Given the description of an element on the screen output the (x, y) to click on. 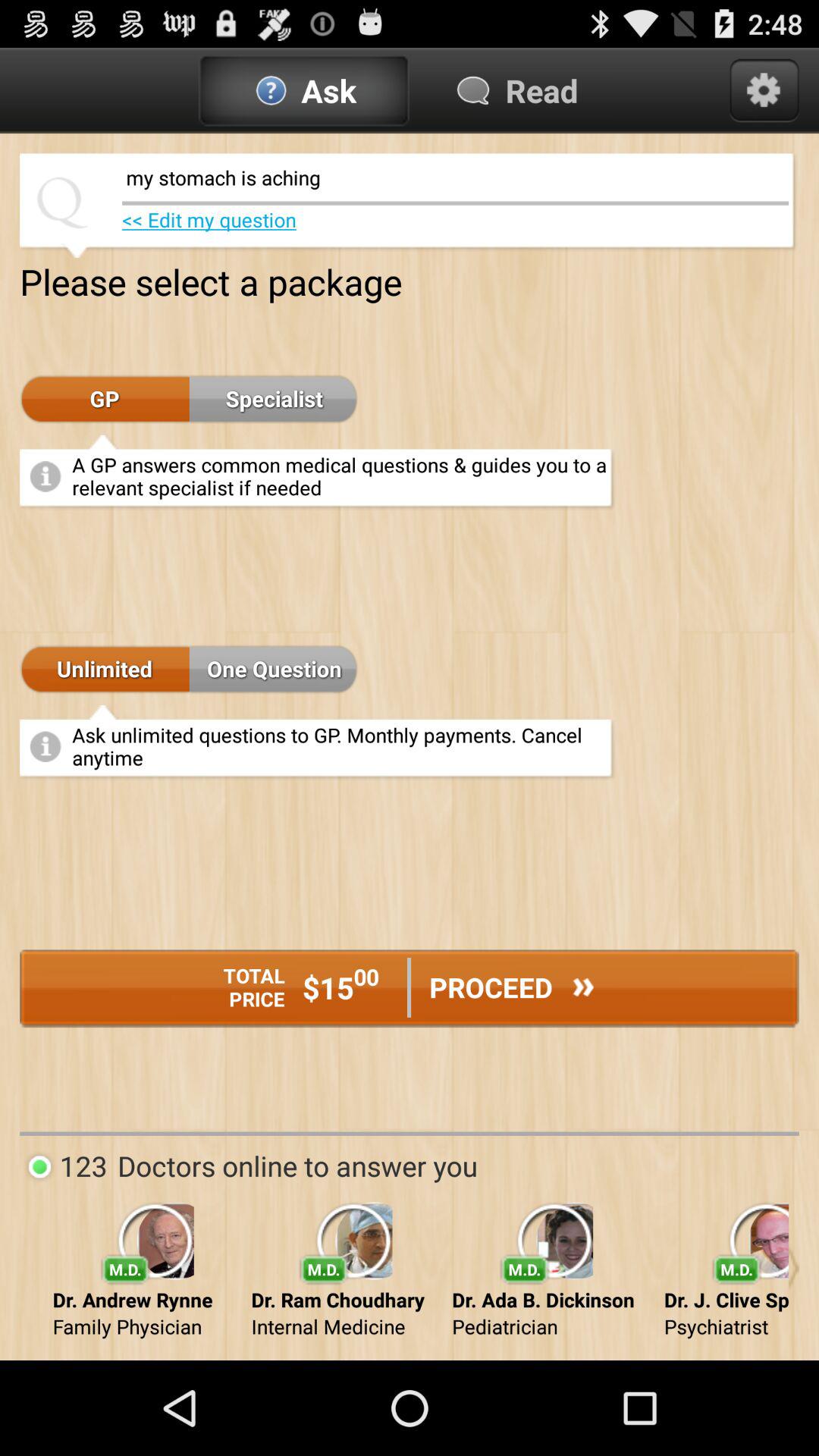
launch the icon to the right of the unlimited icon (273, 669)
